Given the description of an element on the screen output the (x, y) to click on. 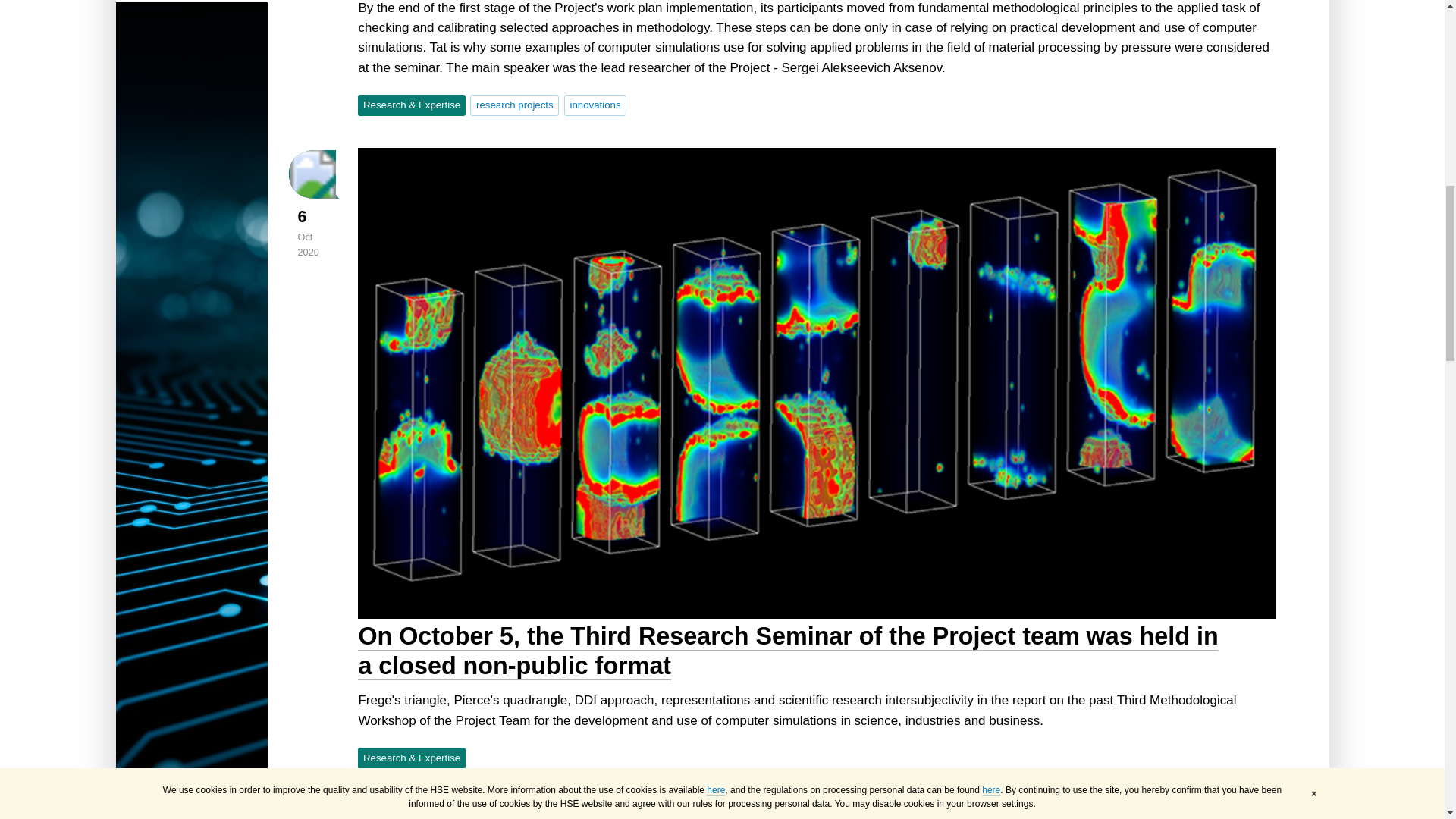
research projects (514, 105)
innovations (595, 105)
research projects (514, 105)
innovations  (595, 105)
